Given the description of an element on the screen output the (x, y) to click on. 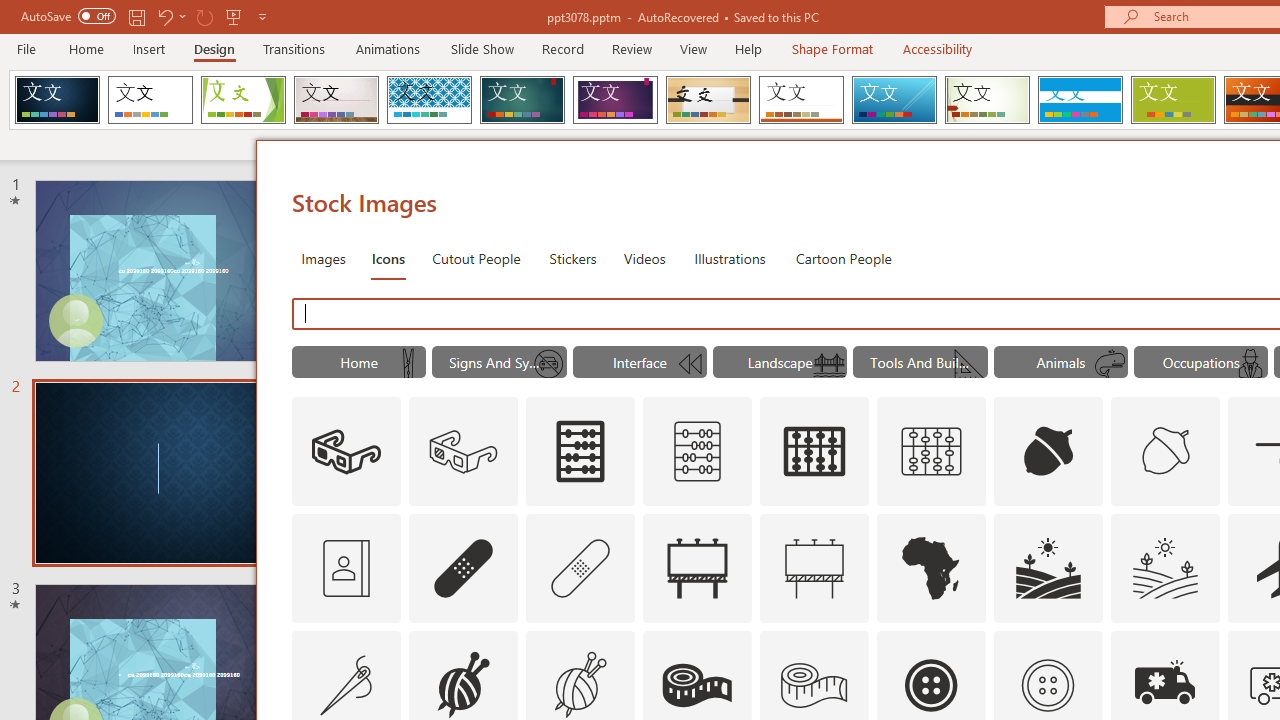
Ion (522, 100)
